Given the description of an element on the screen output the (x, y) to click on. 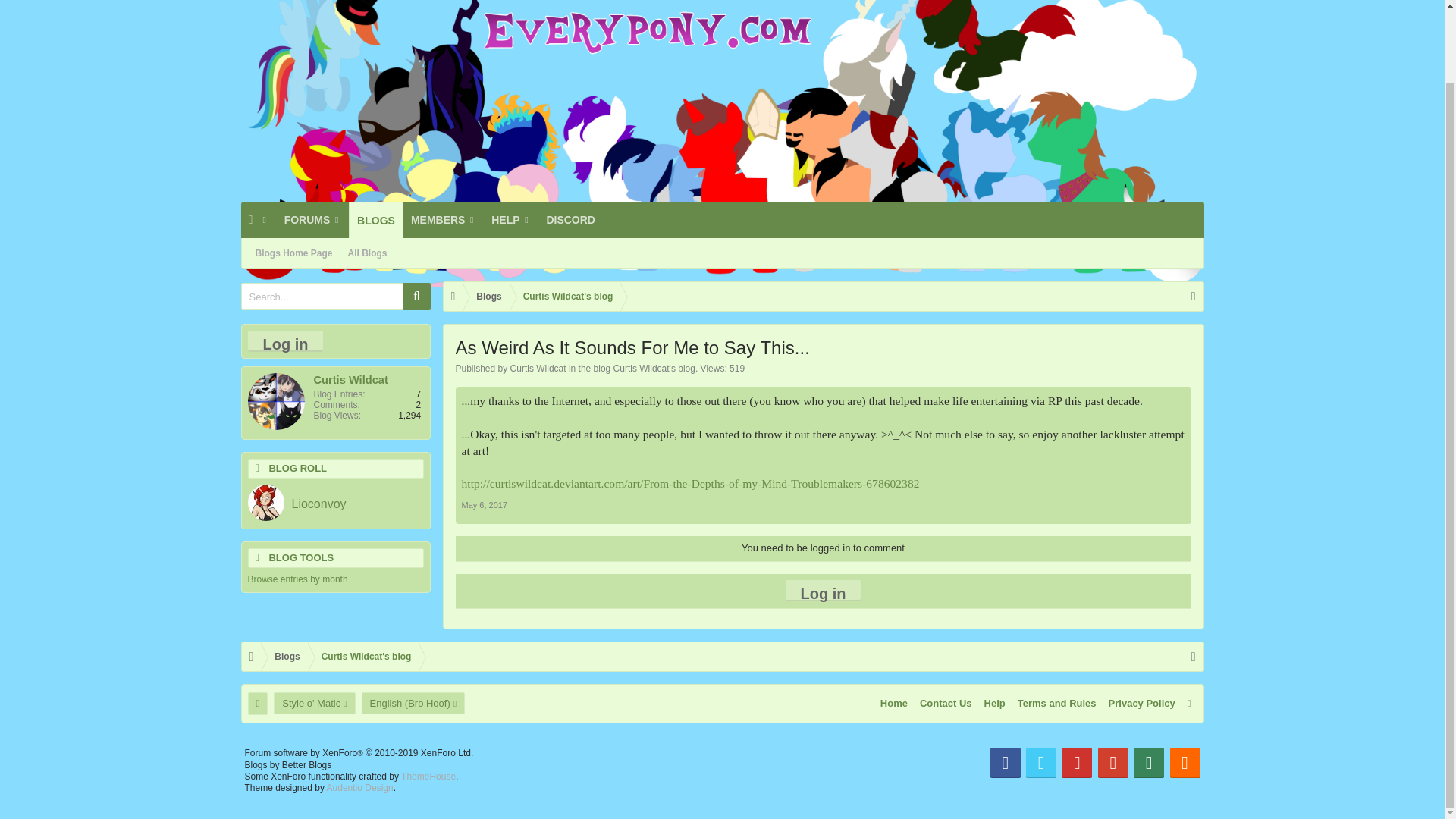
Home (451, 296)
BLOGS (376, 219)
Home (250, 656)
FORUMS (312, 219)
Premium XenForo Add-ons (428, 776)
Enter your search and hit enter (335, 296)
Open quick navigation (1193, 656)
May 6, 2017 at 2:48 AM (483, 504)
Home (250, 219)
Open quick navigation (1193, 296)
Premium XenForo Themes (359, 787)
